Given the description of an element on the screen output the (x, y) to click on. 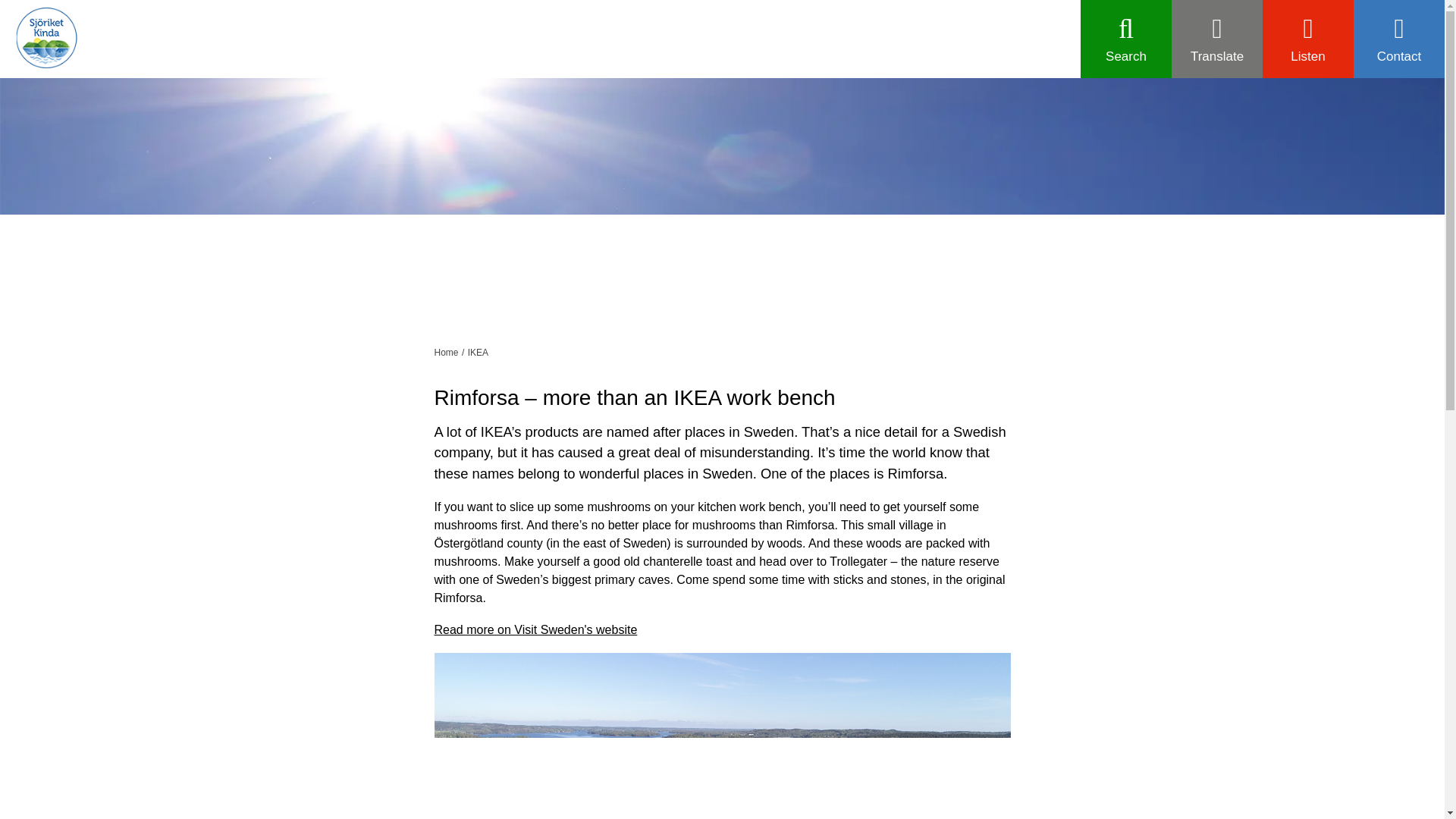
Listen (1308, 38)
Experience (820, 218)
Home (445, 352)
Stay (426, 218)
Events (1017, 218)
Search (1126, 38)
Read more on Visit Sweden's website (535, 629)
Eat (622, 218)
Translate (1217, 38)
